Given the description of an element on the screen output the (x, y) to click on. 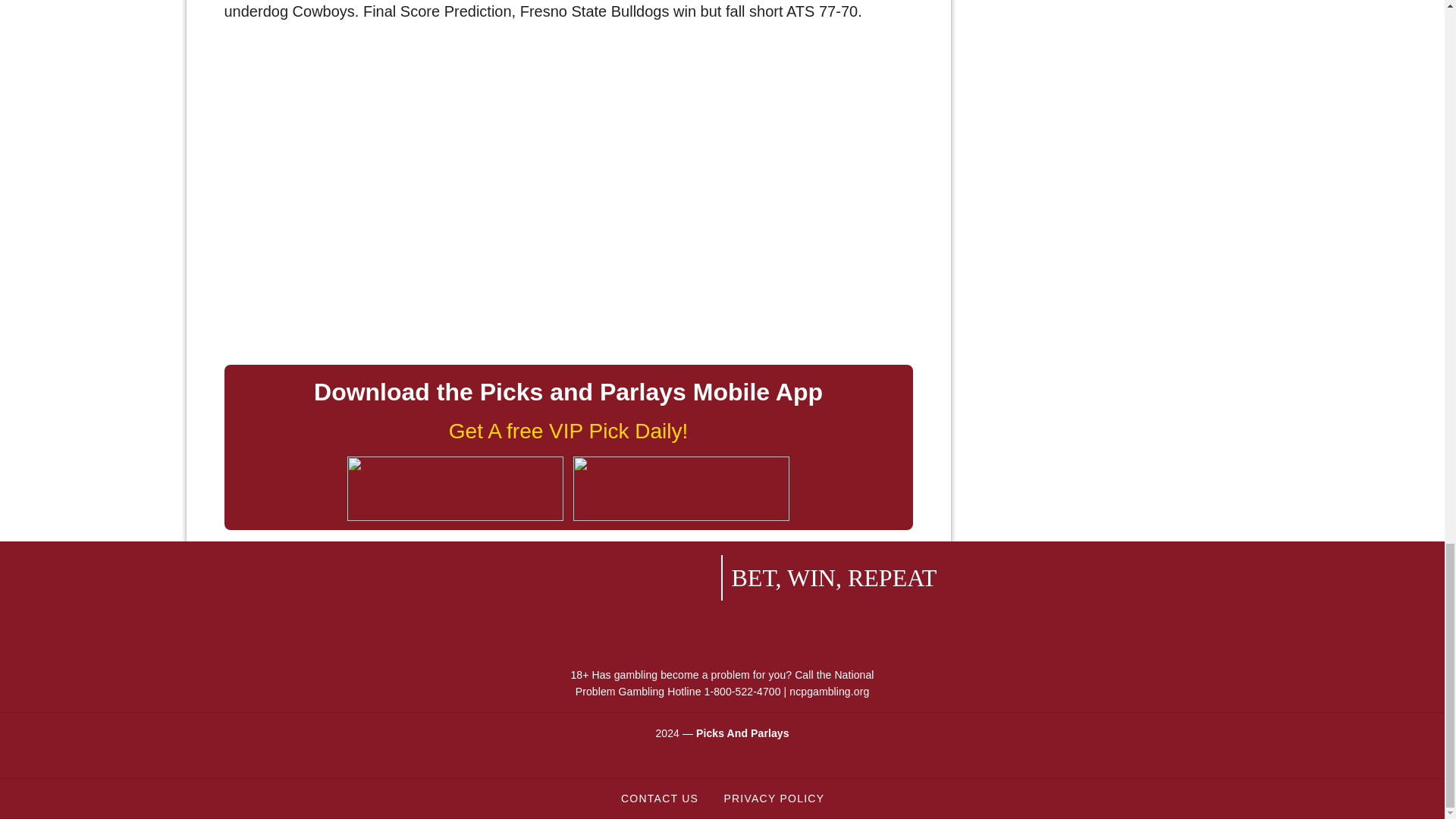
PRIVACY POLICY (772, 798)
CONTACT US (659, 798)
